Given the description of an element on the screen output the (x, y) to click on. 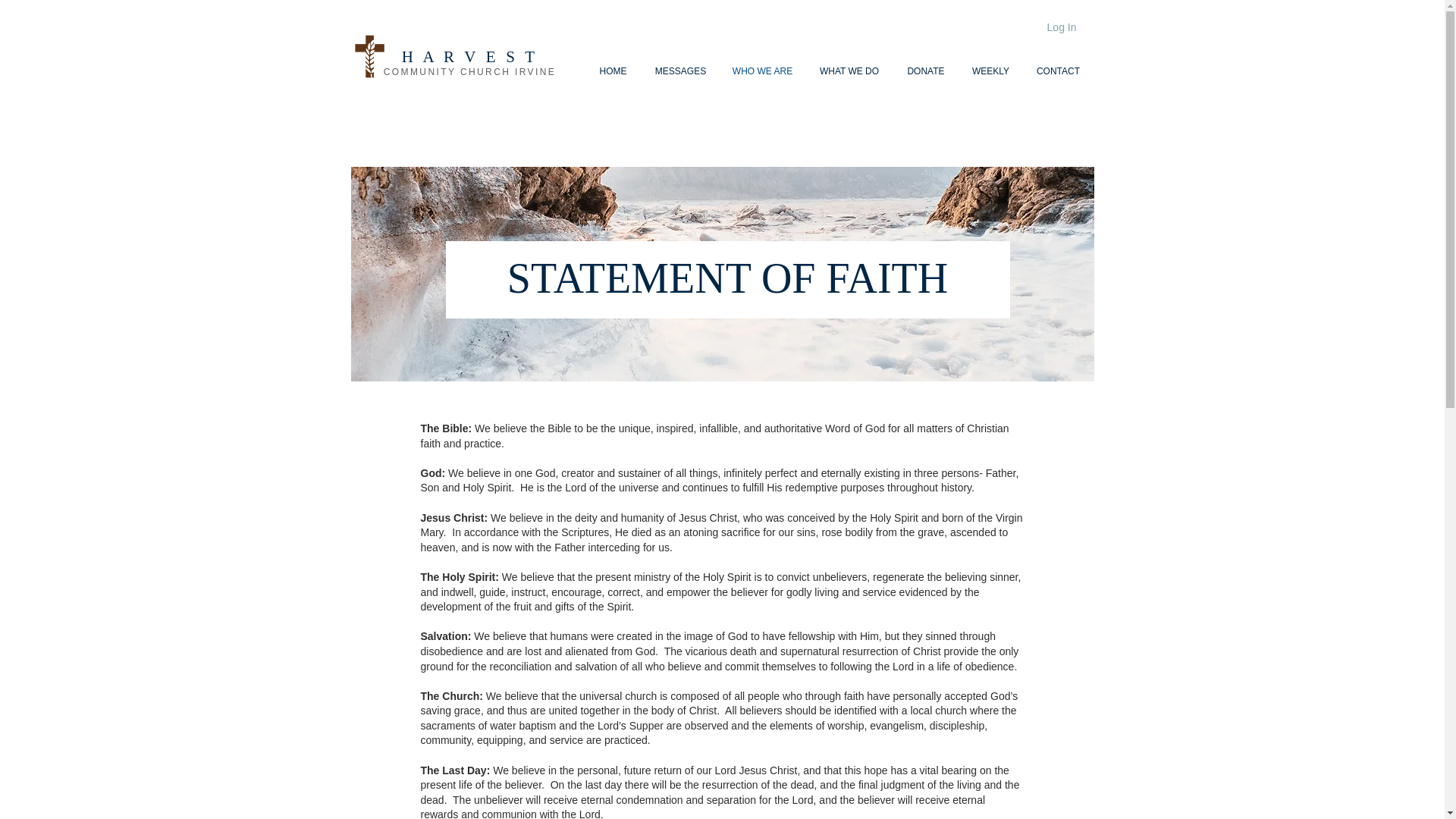
DONATE (926, 71)
CONTACT (1057, 71)
WHO WE ARE (762, 71)
HOME (612, 71)
H A R V E S T (469, 56)
Log In (1061, 27)
MESSAGES (680, 71)
WHAT WE DO (848, 71)
WEEKLY (990, 71)
